Given the description of an element on the screen output the (x, y) to click on. 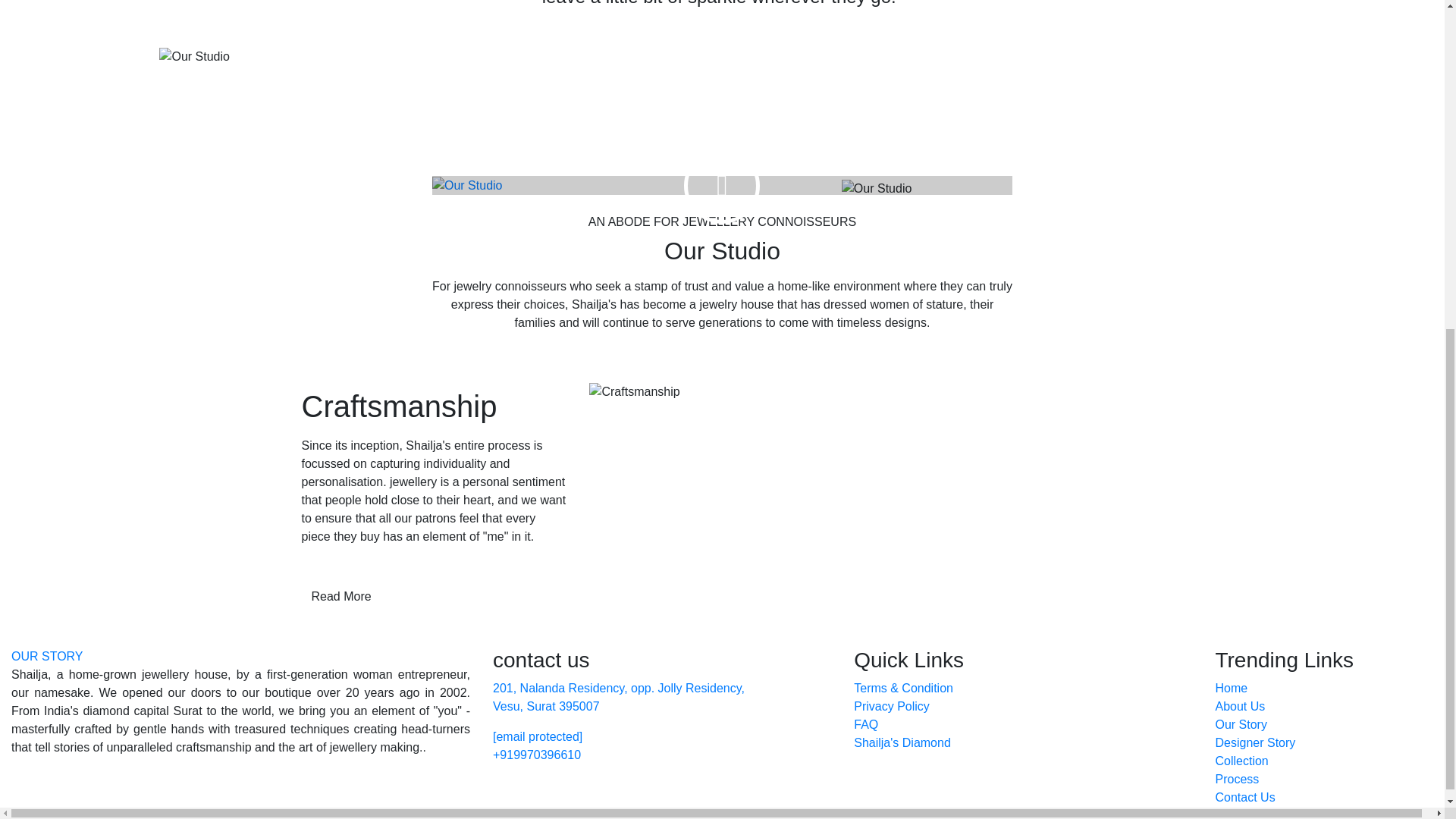
Collection (1241, 760)
Process (1236, 779)
FAQ (865, 724)
Designer Story (1254, 742)
About Us (1239, 706)
Privacy Policy (891, 706)
Contact Us (1244, 797)
Our Story (1240, 724)
Read More (341, 596)
